Given the description of an element on the screen output the (x, y) to click on. 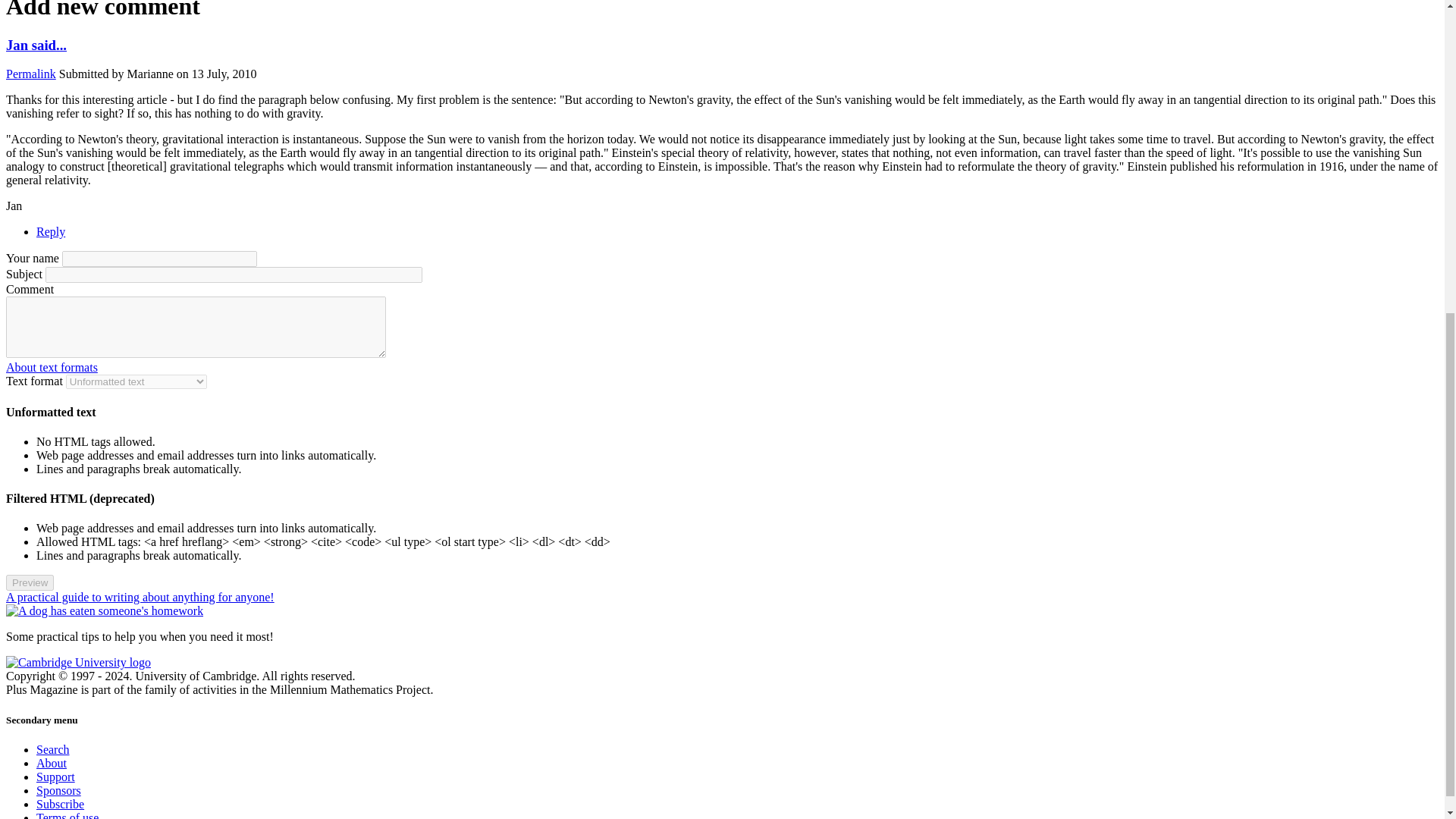
A practical guide to writing about anything for anyone! (140, 596)
Reply (50, 231)
Subscribe (60, 803)
Search (52, 748)
About text formats (51, 367)
Preview (29, 582)
Preview (29, 582)
Permalink (30, 73)
About (51, 762)
Jan said... (35, 44)
Support (55, 776)
Sponsors (58, 789)
